Given the description of an element on the screen output the (x, y) to click on. 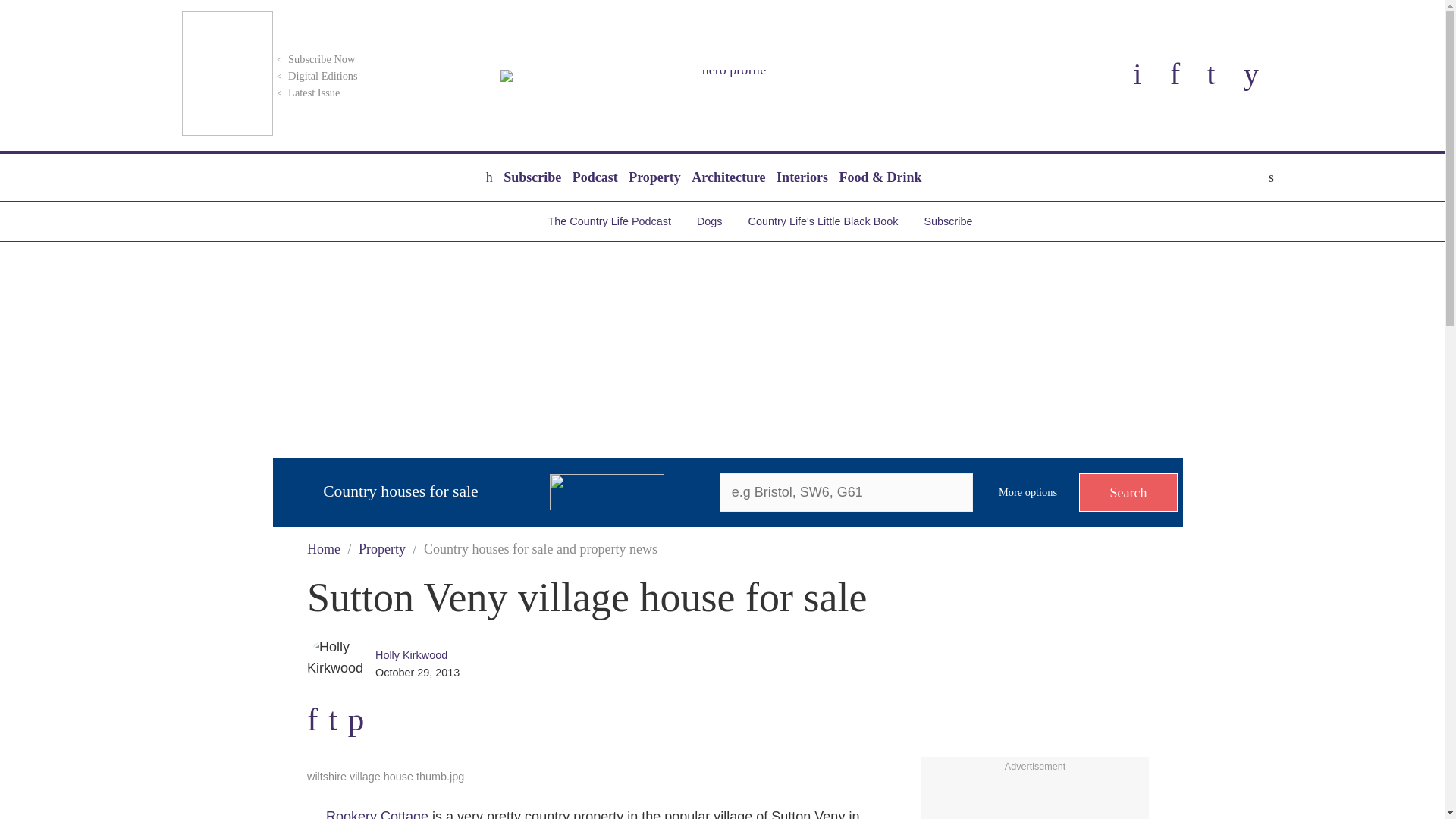
Architecture (727, 176)
Country Life (727, 75)
Interiors (802, 176)
Subscribe (531, 176)
Subscribe Now (314, 59)
Property (654, 176)
Digital Editions (315, 75)
Podcast (595, 176)
Latest Issue (306, 92)
